Given the description of an element on the screen output the (x, y) to click on. 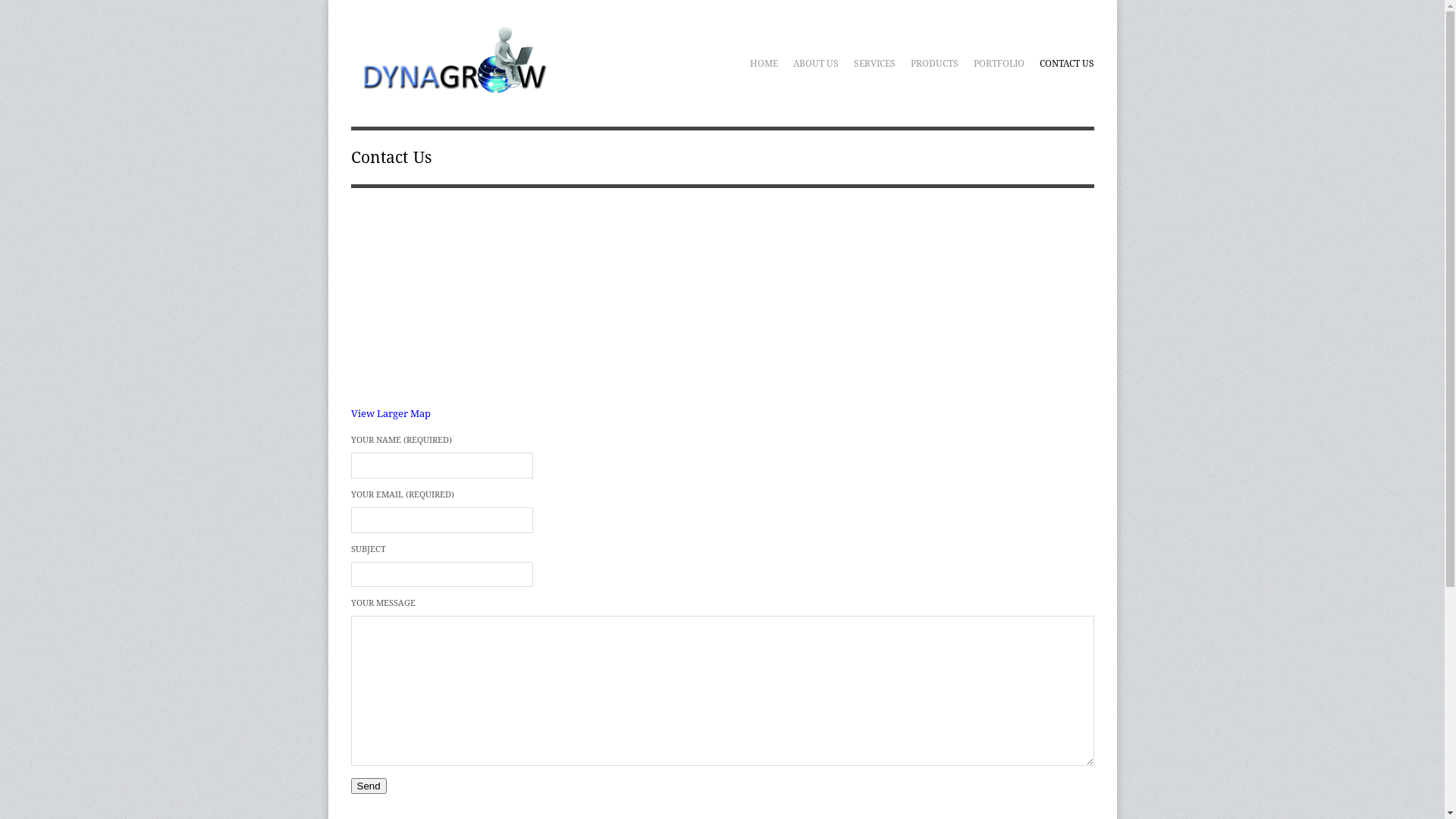
View Larger Map Element type: text (389, 413)
SERVICES Element type: text (874, 63)
HOME Element type: text (762, 63)
PRODUCTS Element type: text (933, 63)
Send Element type: text (367, 785)
CONTACT US Element type: text (1066, 63)
Dynagrow Element type: hover (448, 89)
PORTFOLIO Element type: text (999, 63)
ABOUT US Element type: text (815, 63)
